Given the description of an element on the screen output the (x, y) to click on. 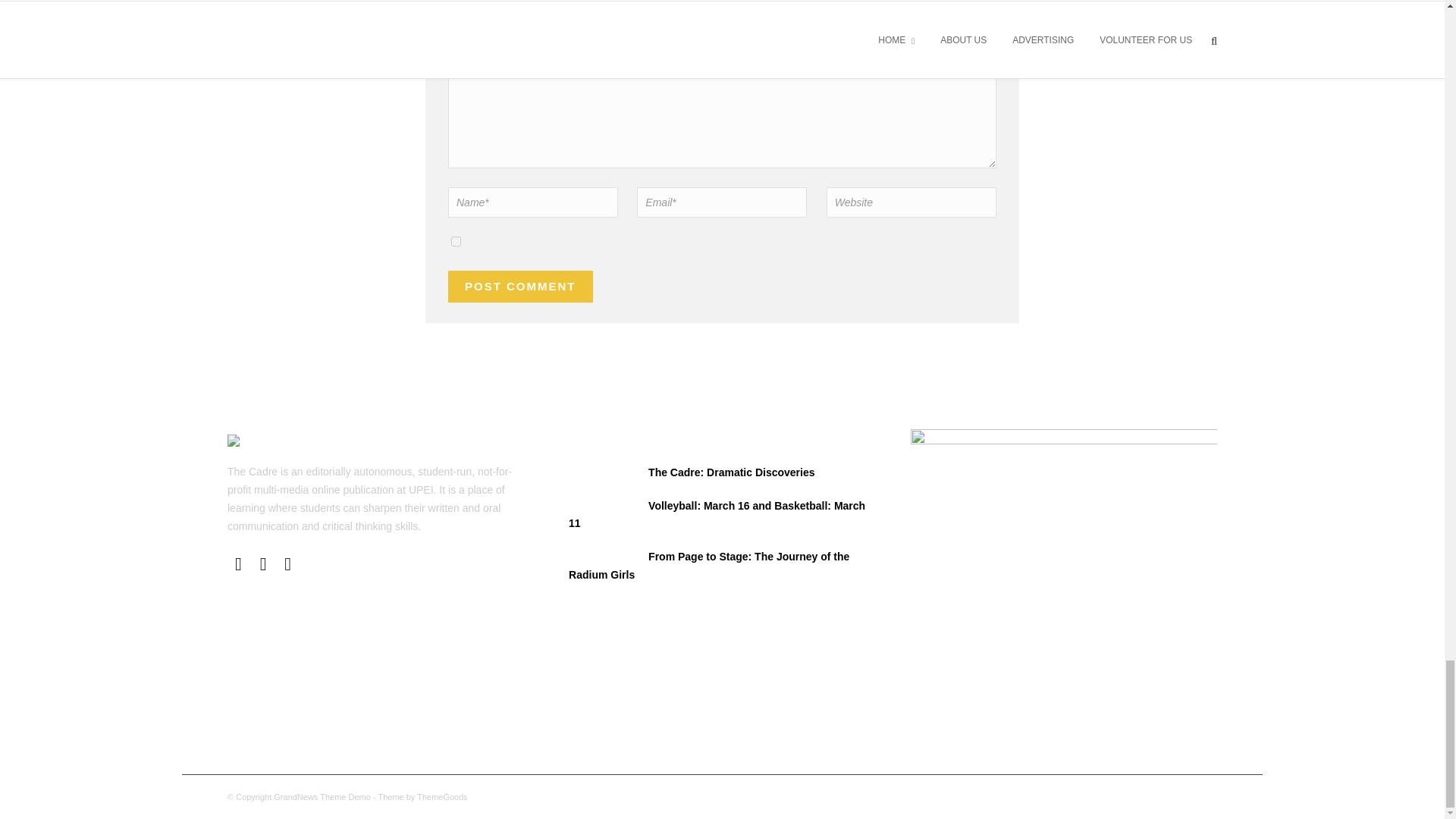
Post Comment (520, 287)
yes (456, 241)
Post Comment (520, 287)
